Given the description of an element on the screen output the (x, y) to click on. 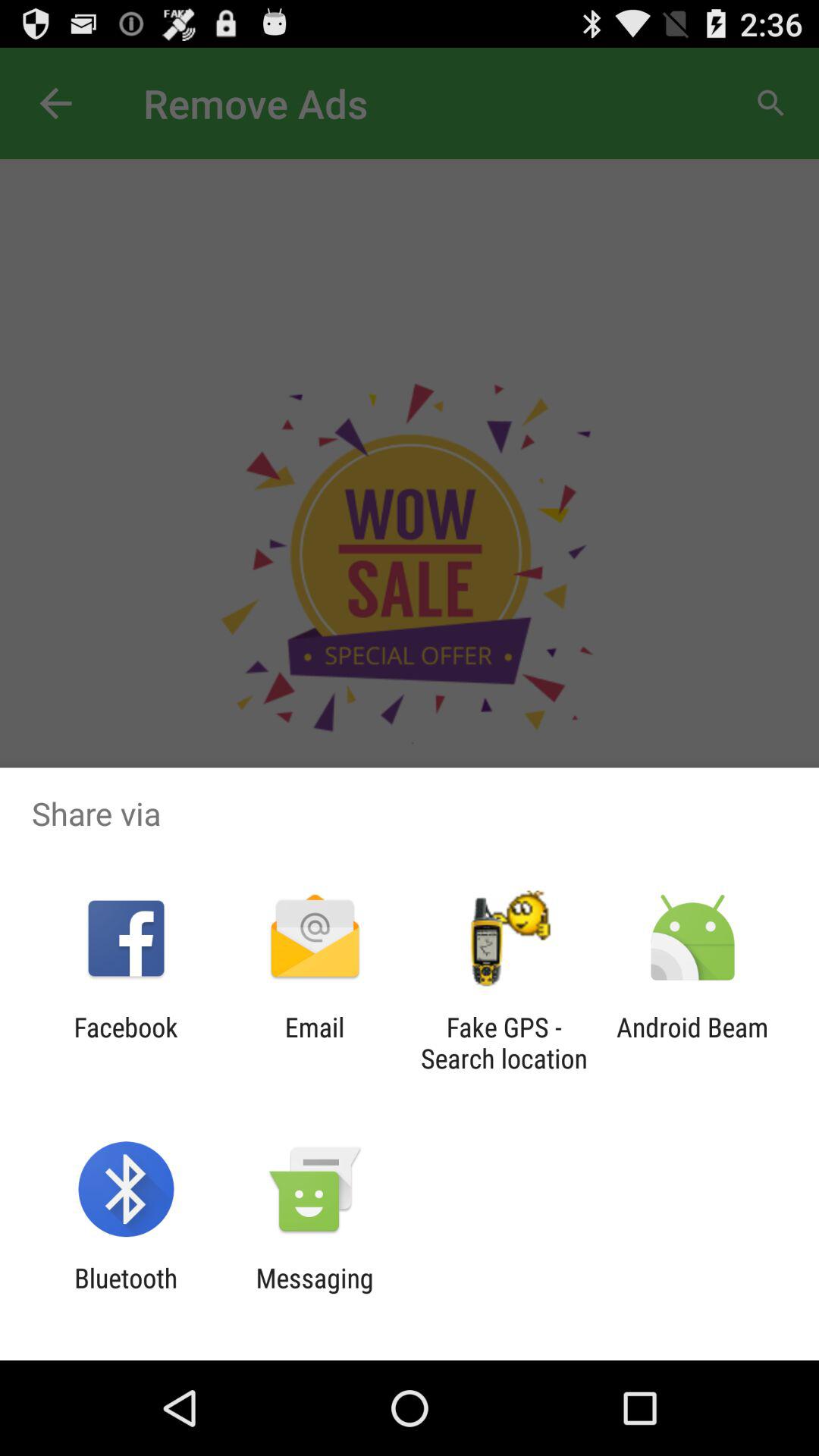
press the bluetooth item (125, 1293)
